Given the description of an element on the screen output the (x, y) to click on. 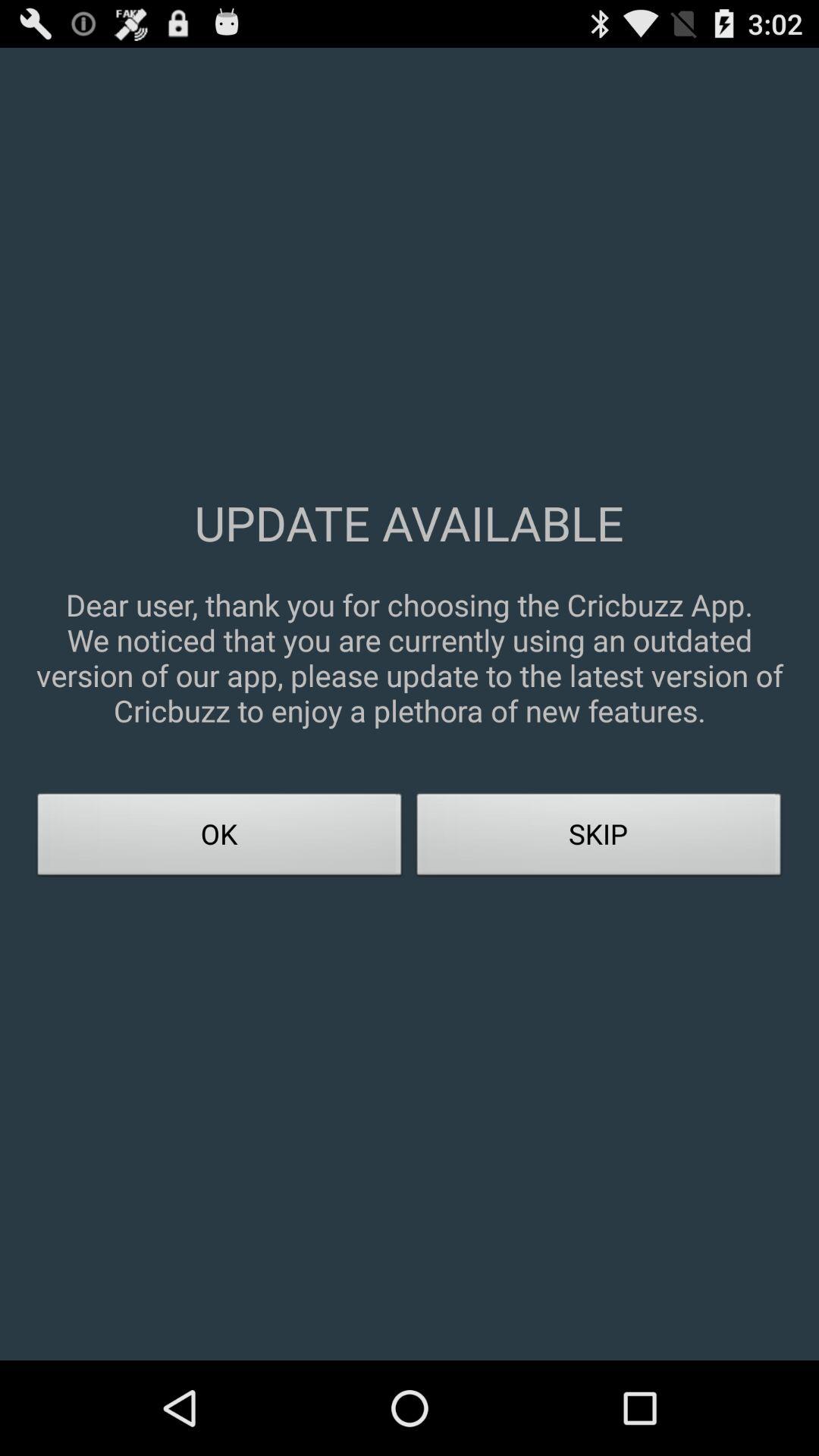
open ok icon (219, 838)
